Given the description of an element on the screen output the (x, y) to click on. 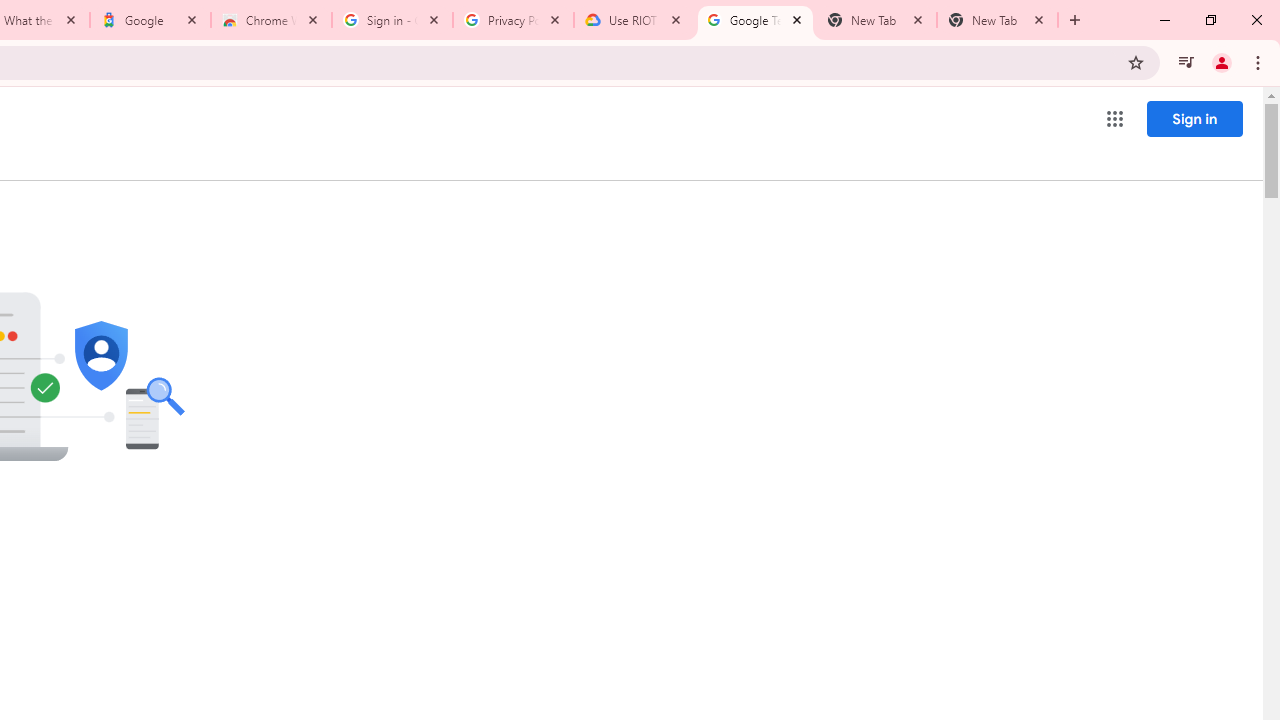
New Tab (997, 20)
Sign in - Google Accounts (392, 20)
